Given the description of an element on the screen output the (x, y) to click on. 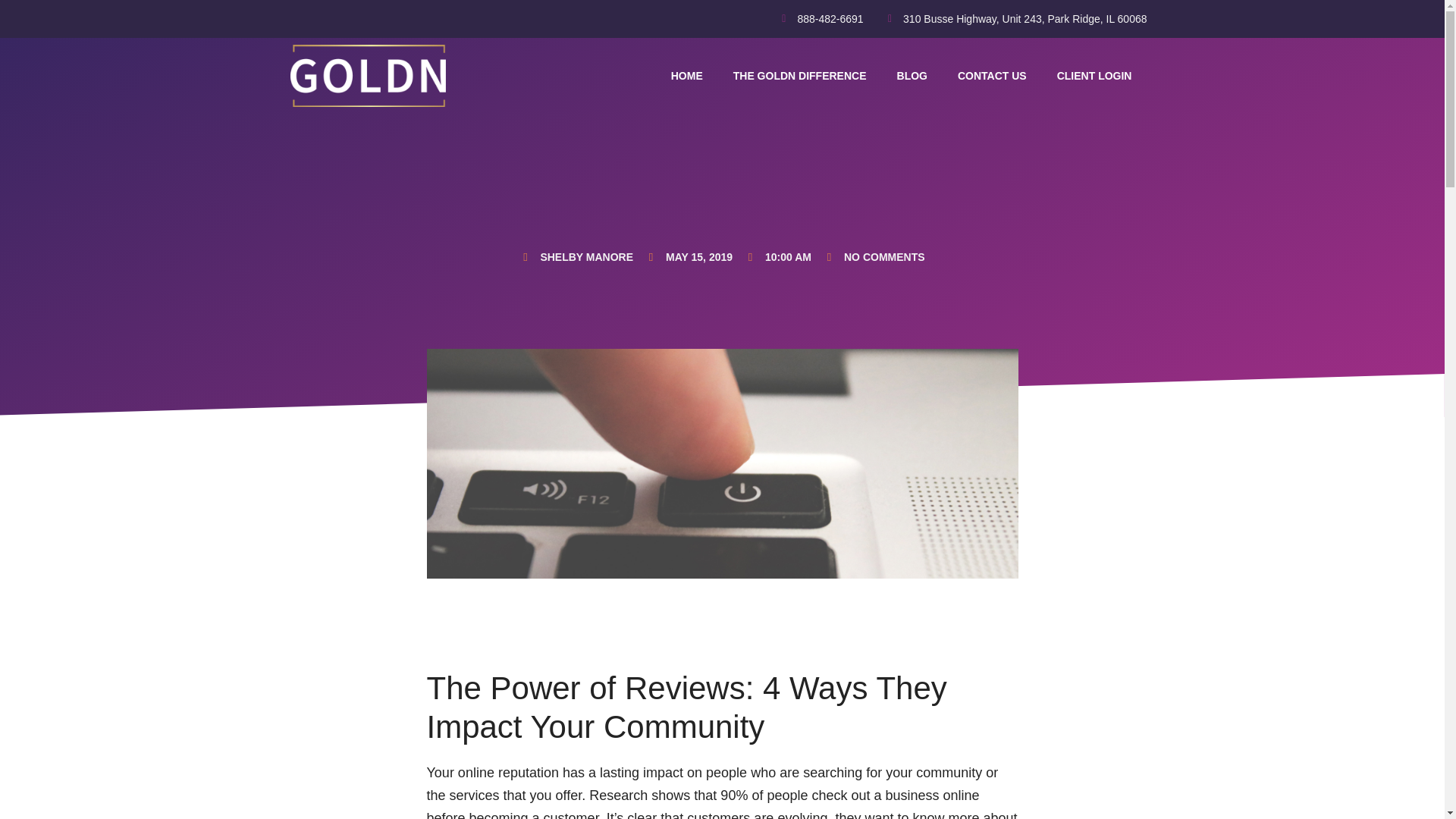
SHELBY MANORE (576, 256)
NO COMMENTS (874, 256)
MAY 15, 2019 (688, 256)
CONTACT US (992, 75)
BLOG (912, 75)
HOME (686, 75)
THE GOLDN DIFFERENCE (799, 75)
CLIENT LOGIN (1094, 75)
